Given the description of an element on the screen output the (x, y) to click on. 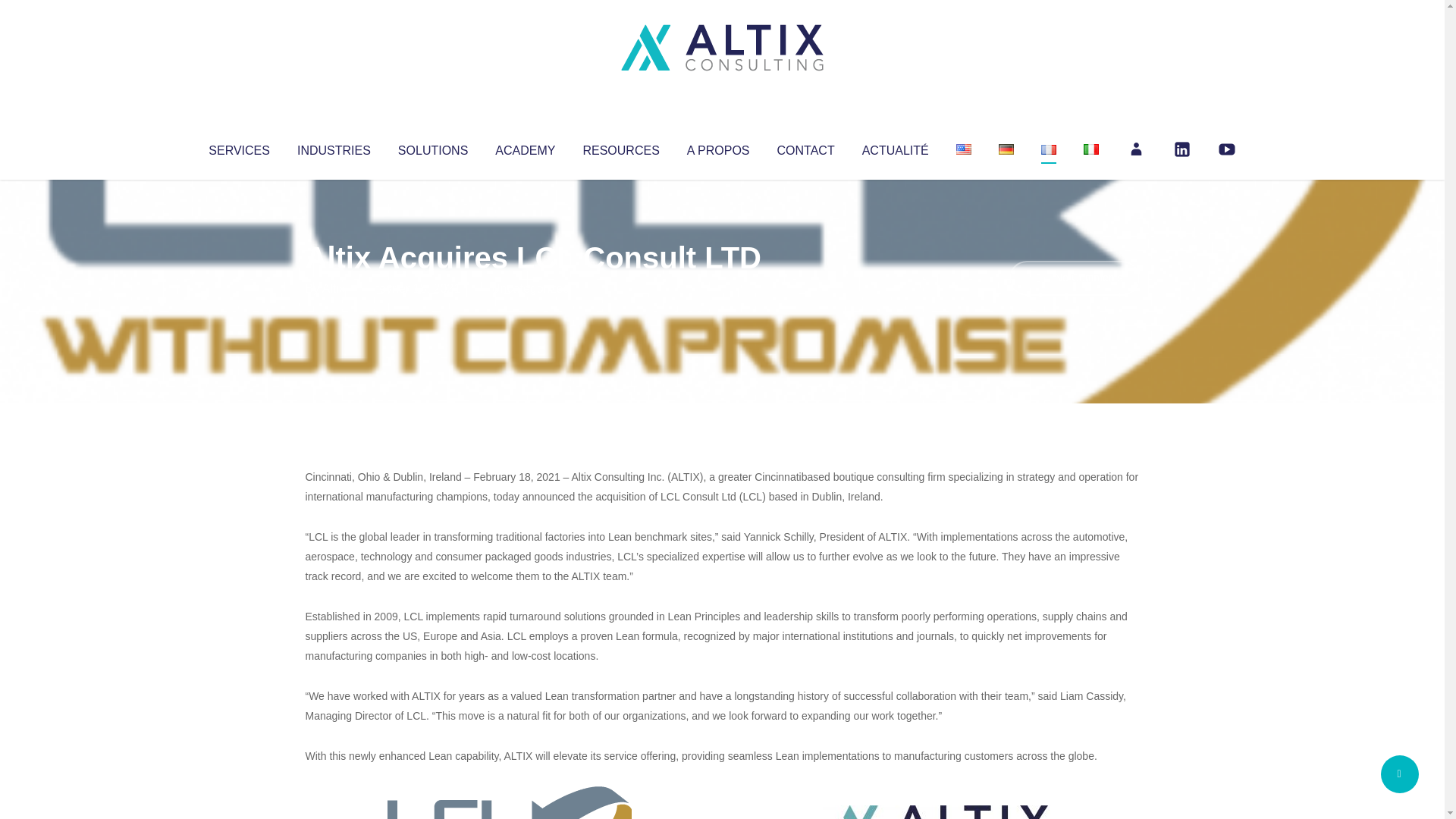
A PROPOS (718, 146)
SOLUTIONS (432, 146)
Articles par Altix (333, 287)
Uncategorized (530, 287)
Altix (333, 287)
RESOURCES (620, 146)
SERVICES (238, 146)
No Comments (1073, 278)
INDUSTRIES (334, 146)
ACADEMY (524, 146)
